Given the description of an element on the screen output the (x, y) to click on. 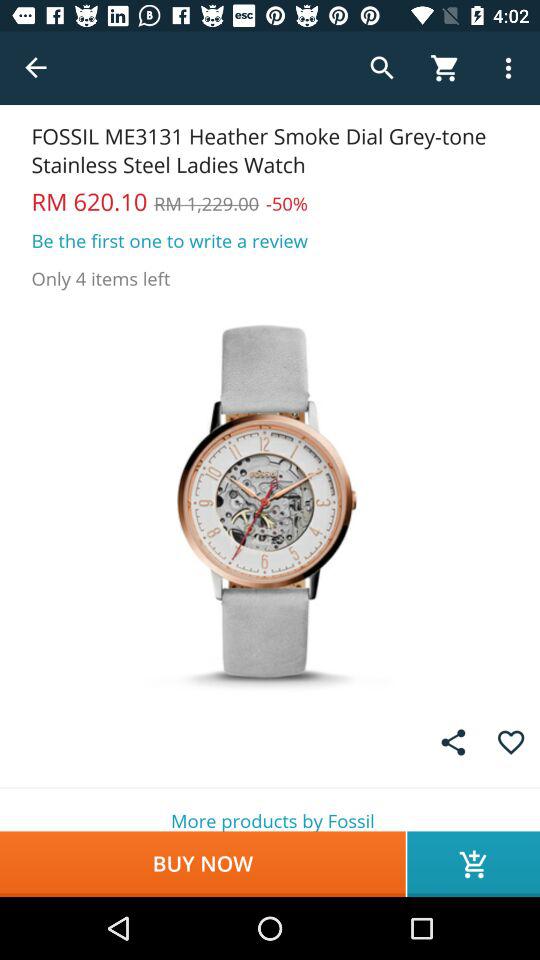
choose item below the more products by (473, 863)
